Given the description of an element on the screen output the (x, y) to click on. 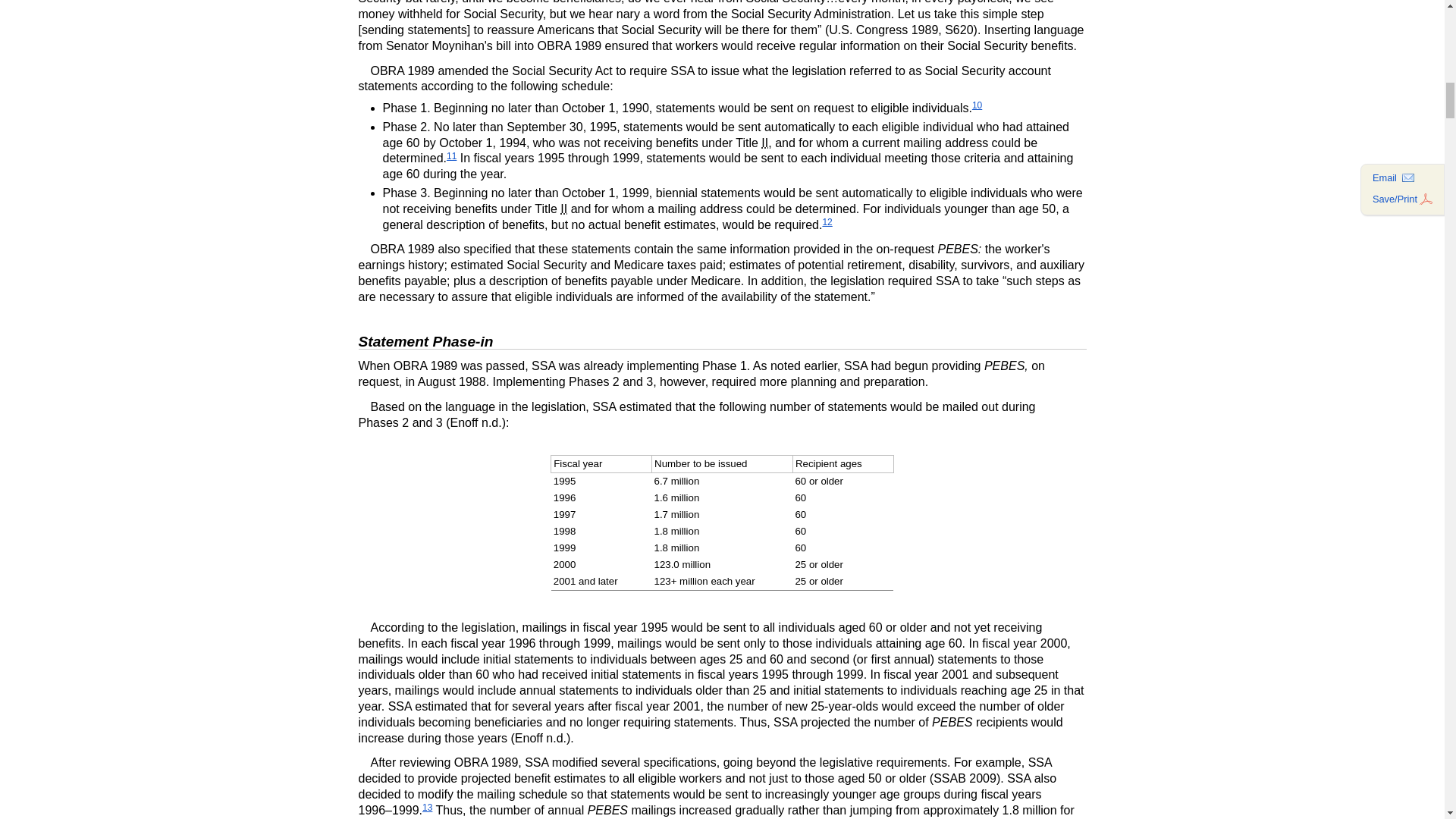
13 (427, 807)
12 (826, 222)
10 (976, 104)
11 (451, 155)
